Given the description of an element on the screen output the (x, y) to click on. 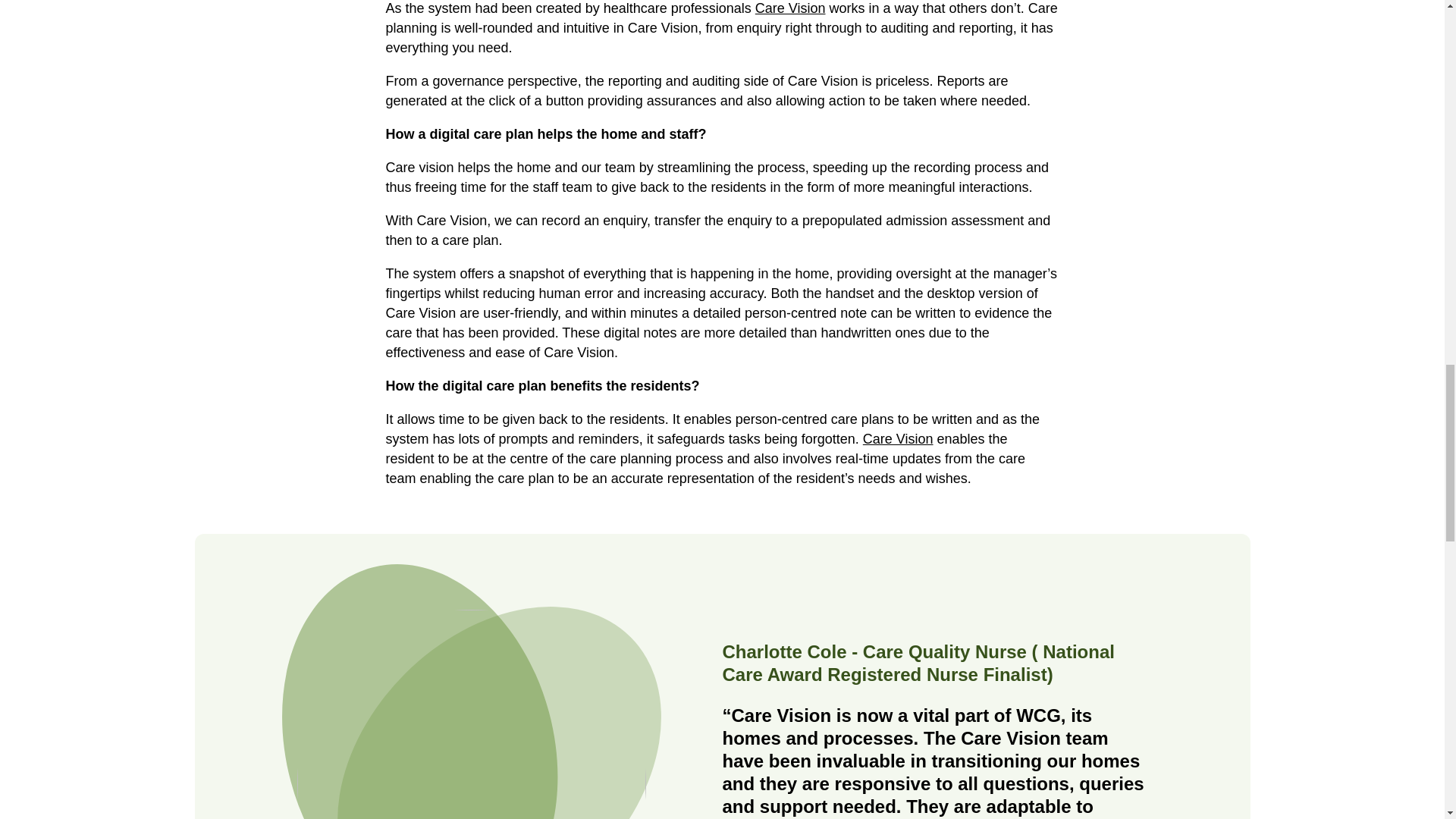
Care Vision (790, 7)
Care Vision (898, 438)
